Given the description of an element on the screen output the (x, y) to click on. 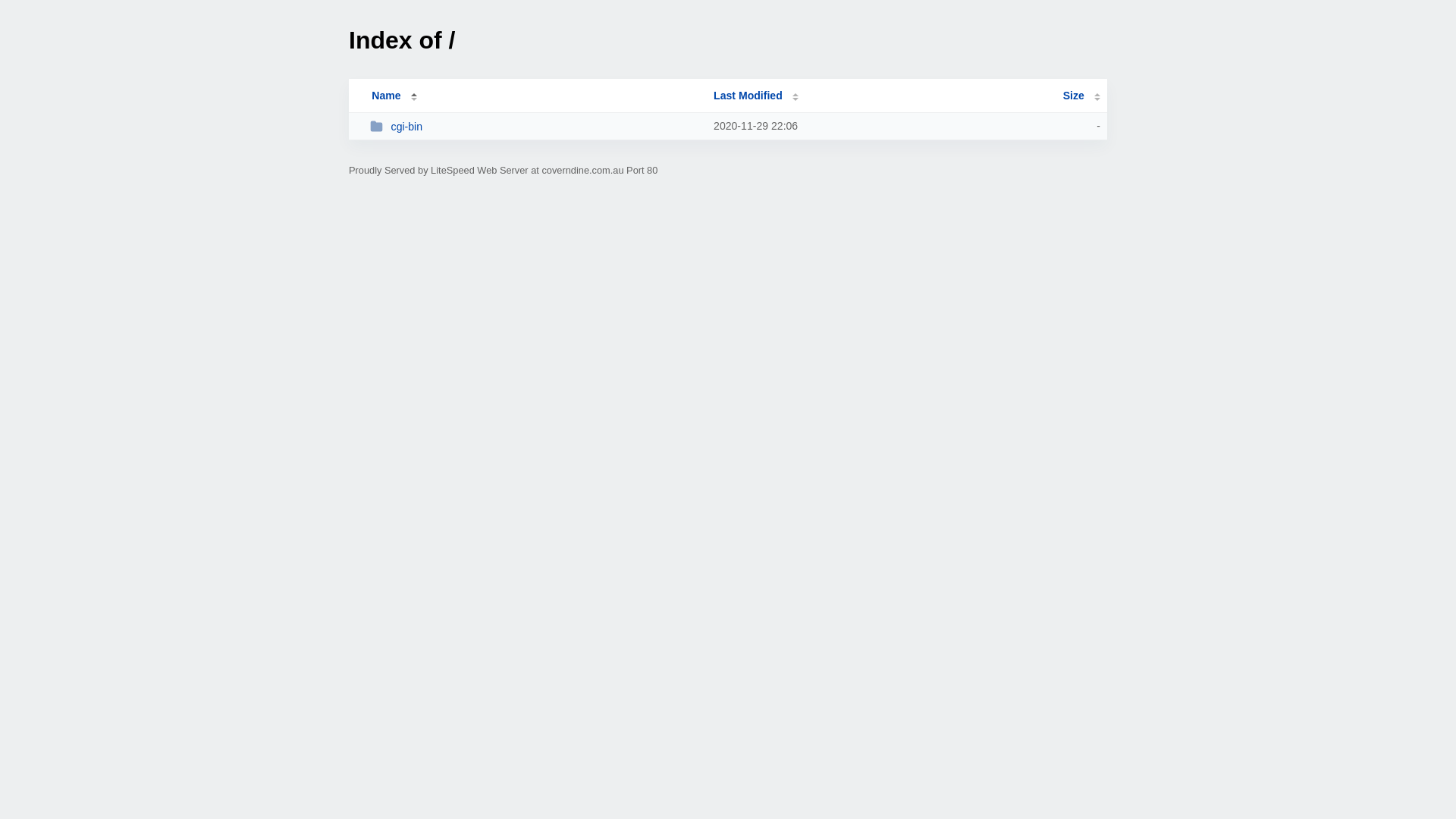
Name Element type: text (385, 95)
cgi-bin Element type: text (534, 125)
Size Element type: text (1081, 95)
Last Modified Element type: text (755, 95)
